Given the description of an element on the screen output the (x, y) to click on. 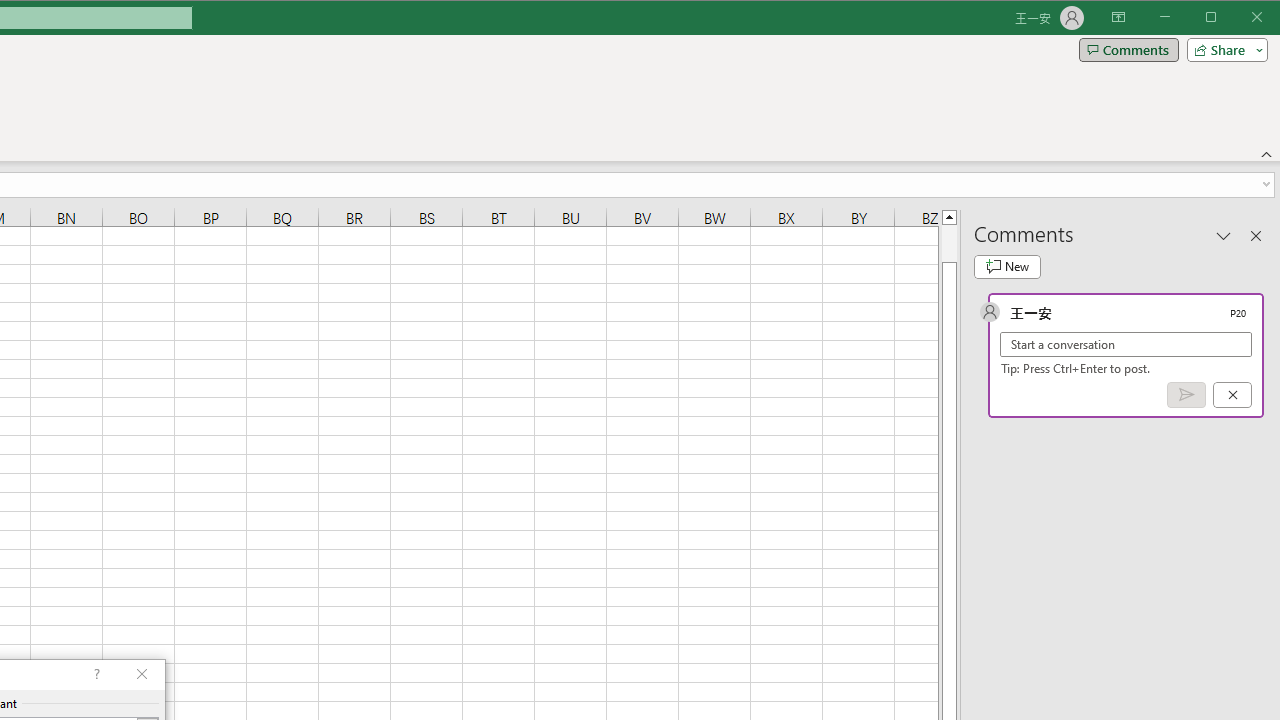
Close (1261, 18)
Ribbon Display Options (1118, 17)
